Given the description of an element on the screen output the (x, y) to click on. 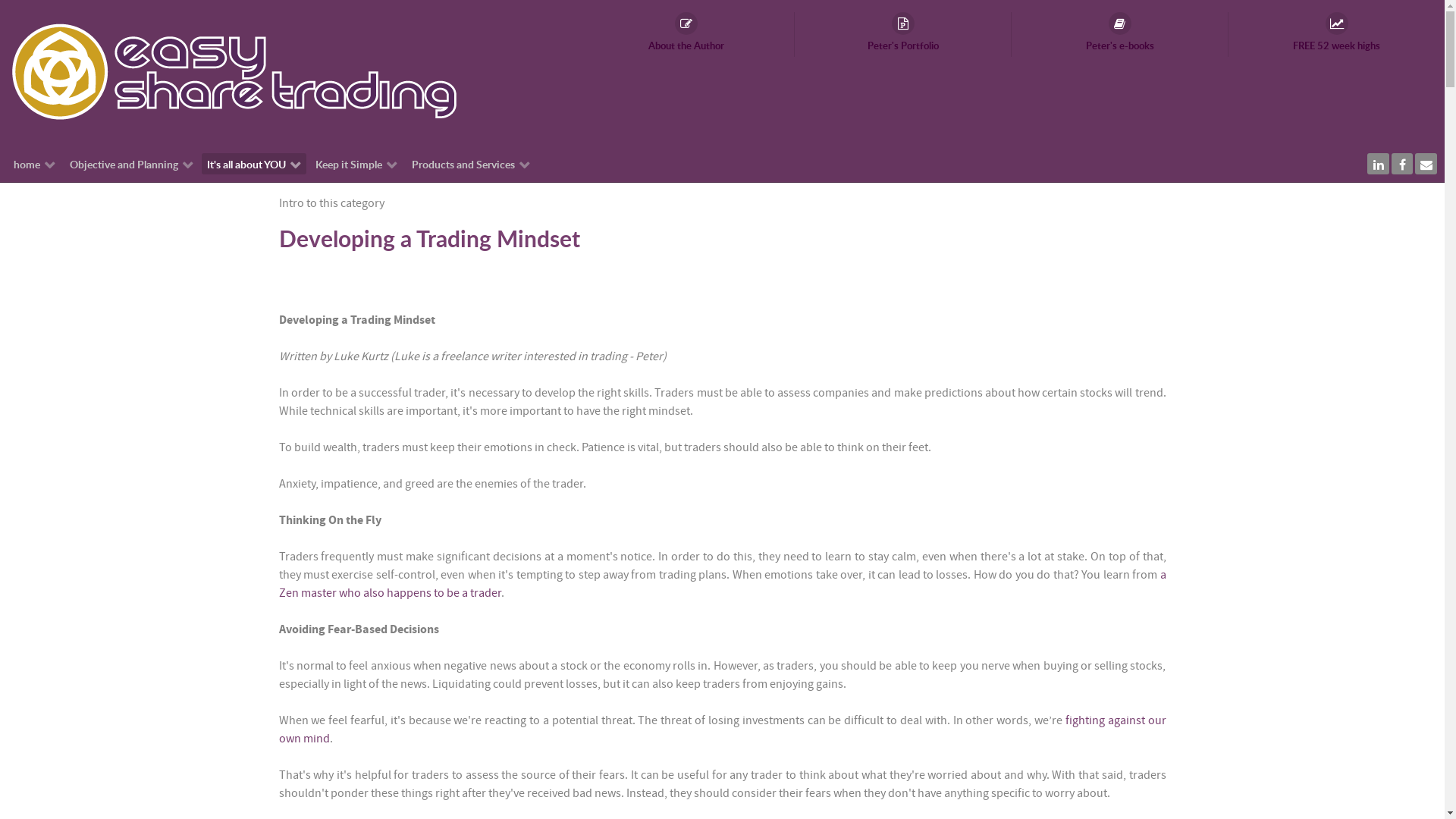
It's all about YOU Element type: text (253, 163)
a Zen master who also happens to be a trader Element type: text (722, 583)
fighting against our own mind Element type: text (722, 729)
Keep it Simple Element type: text (356, 163)
Objective and Planning Element type: text (130, 163)
home Element type: text (34, 163)
Peter's e-books Element type: text (1119, 34)
Developing a Trading Mindset Element type: text (429, 238)
FREE 52 week highs Element type: text (1336, 34)
Peter's Portfolio Element type: text (902, 34)
About the Author Element type: text (685, 34)
